Given the description of an element on the screen output the (x, y) to click on. 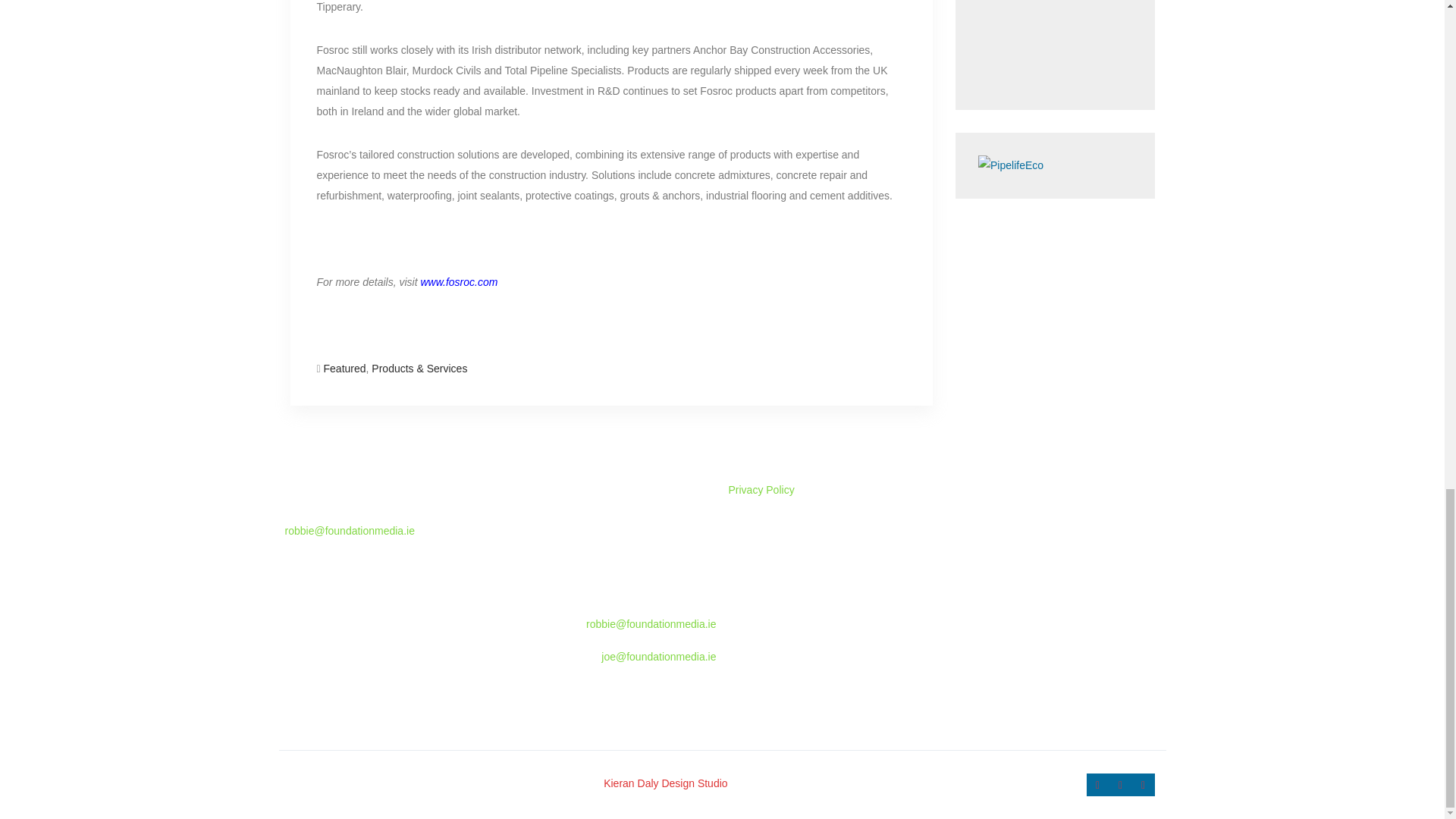
Facebook (1097, 784)
Linked In (1142, 784)
Twitter (1119, 784)
